Given the description of an element on the screen output the (x, y) to click on. 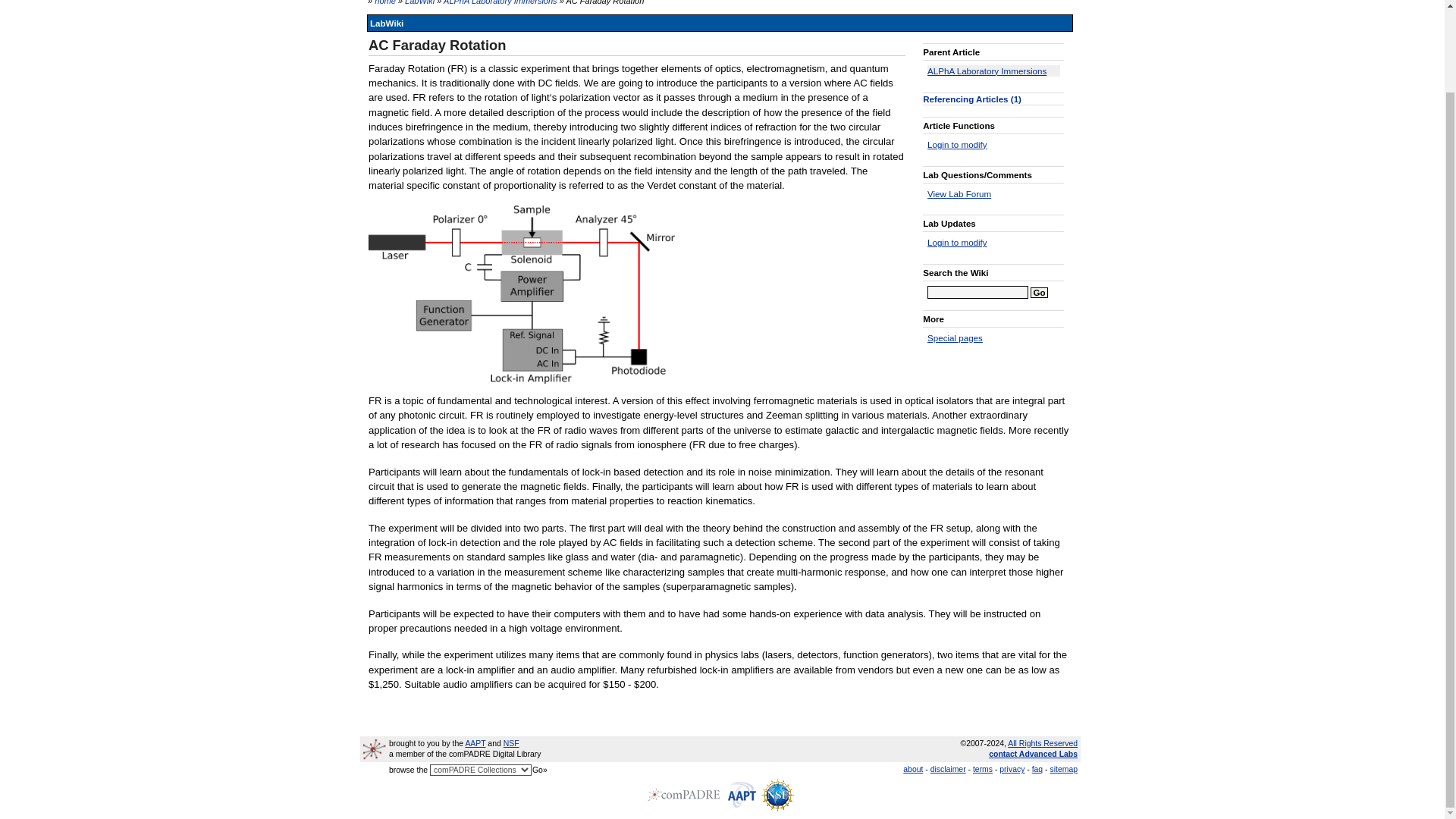
AAPT (474, 743)
ALPhA Laboratory Immersions (500, 2)
LabWiki (418, 2)
NSF (511, 743)
home (385, 2)
